Given the description of an element on the screen output the (x, y) to click on. 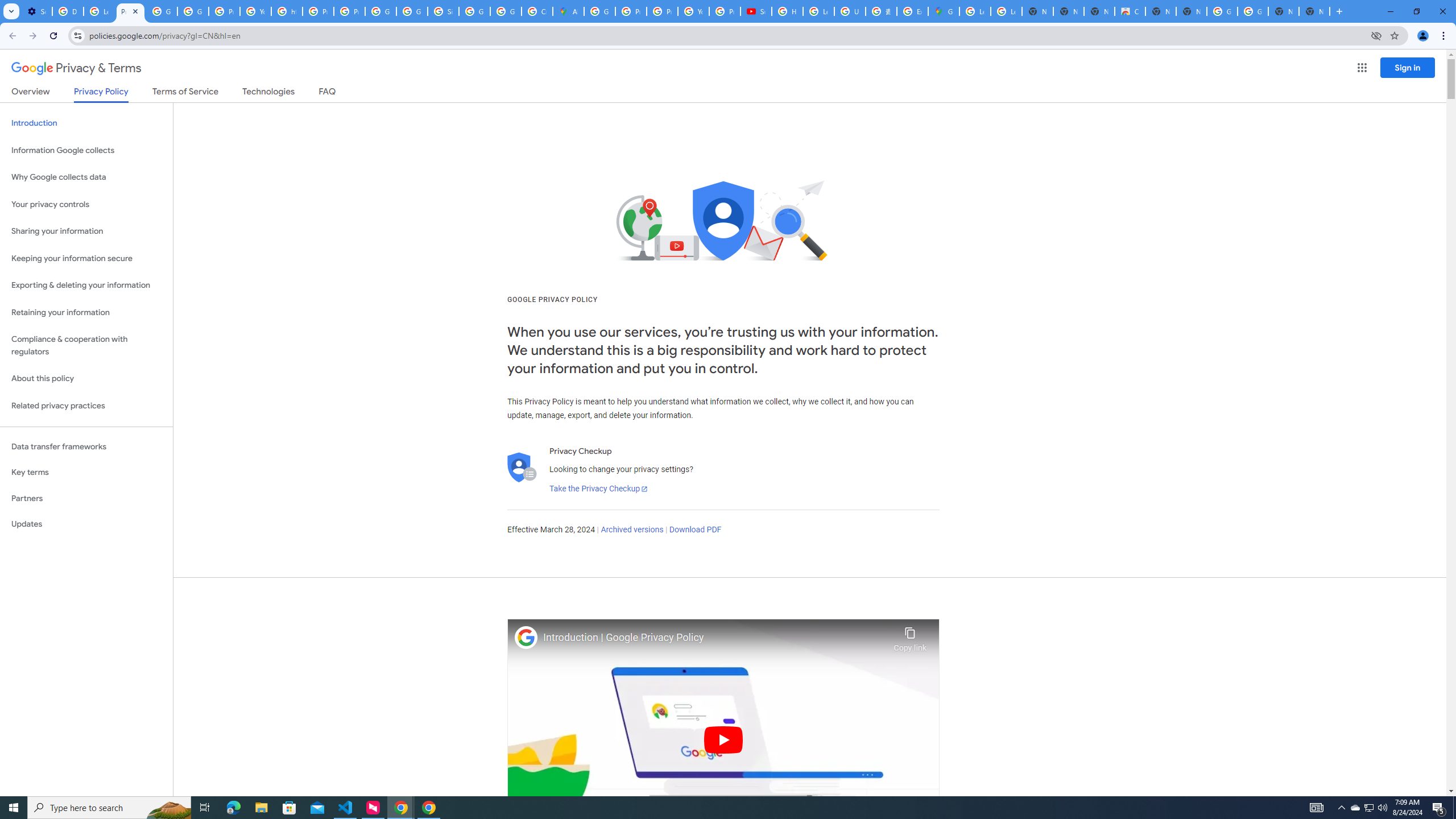
Sign in - Google Accounts (443, 11)
Privacy Help Center - Policies Help (318, 11)
Explore new street-level details - Google Maps Help (912, 11)
